Given the description of an element on the screen output the (x, y) to click on. 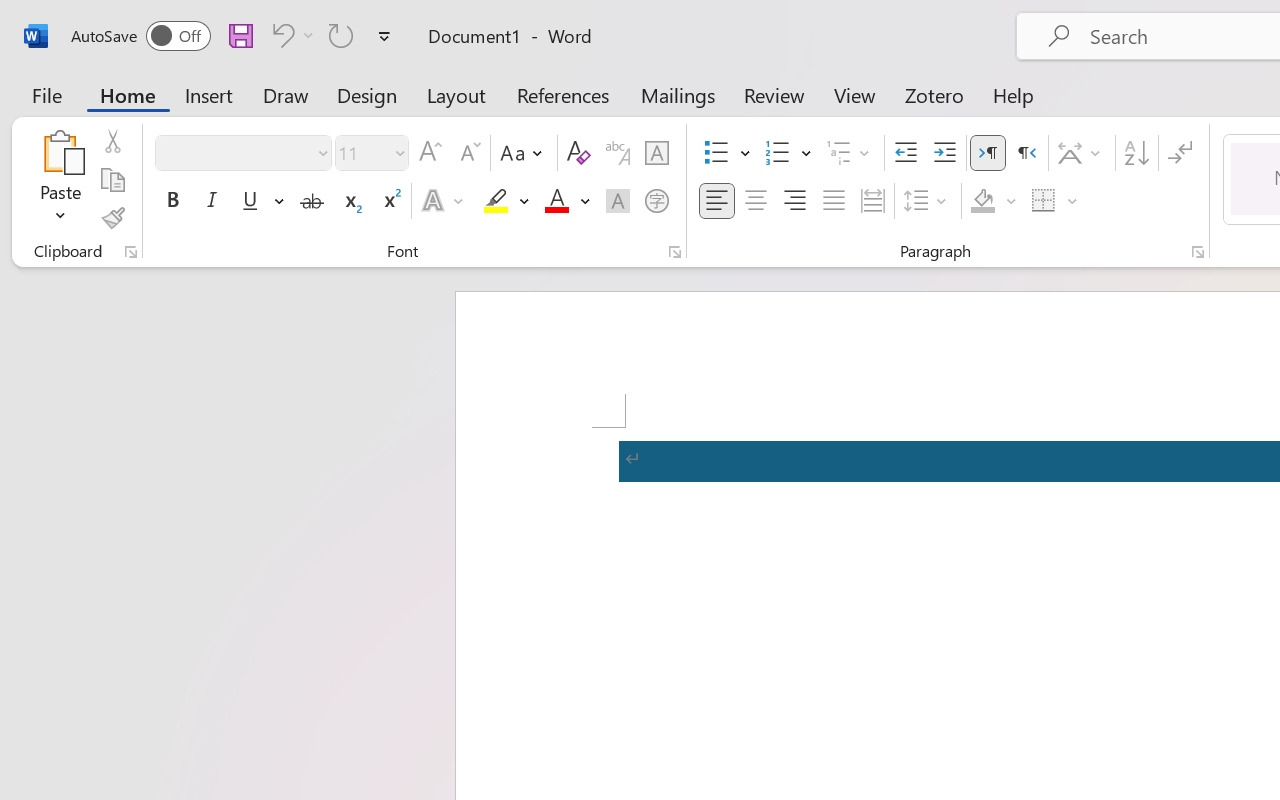
Right-to-Left (1026, 153)
Left-to-Right (988, 153)
